Given the description of an element on the screen output the (x, y) to click on. 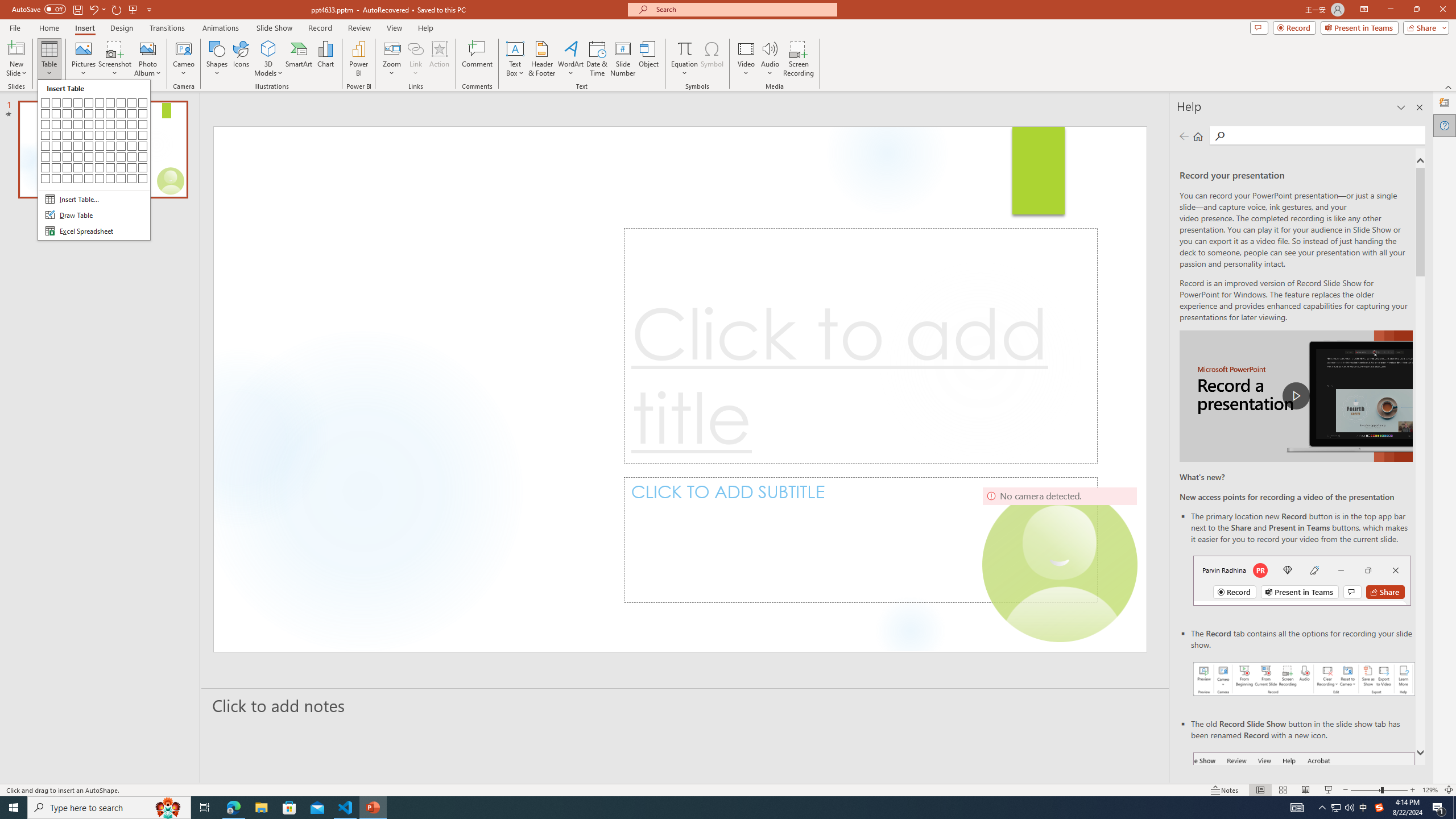
WordArt (570, 58)
Table (94, 159)
Screenshot (114, 58)
